Given the description of an element on the screen output the (x, y) to click on. 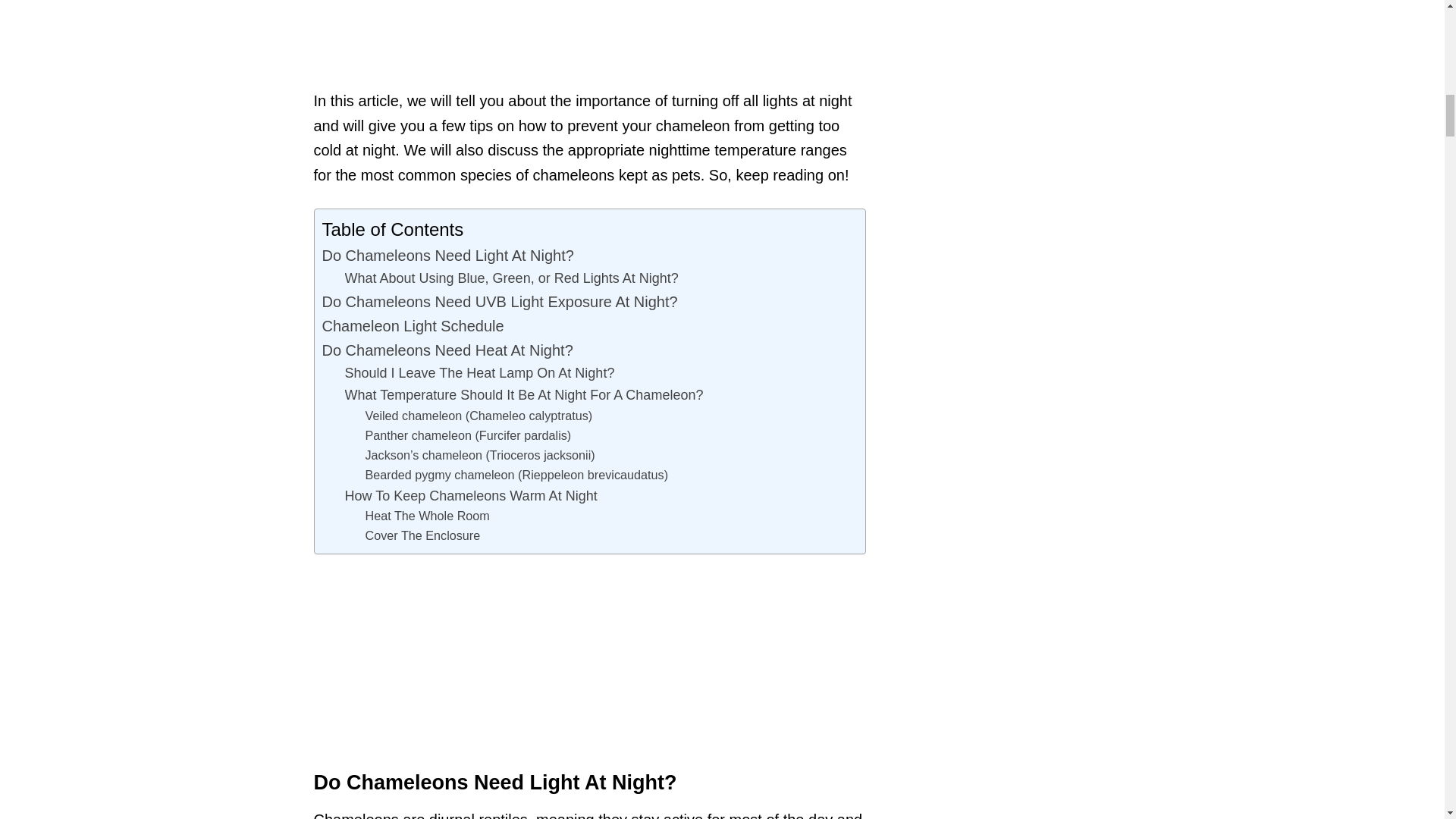
What Temperature Should It Be At Night For A Chameleon? (523, 395)
Do Chameleons Need Heat At Night? (446, 350)
Do Chameleons Need UVB Light Exposure At Night? (499, 301)
Do Chameleons Need Light At Night? (447, 255)
Should I Leave The Heat Lamp On At Night? (478, 373)
What About Using Blue, Green, or Red Lights At Night? (510, 278)
Chameleon Light Schedule (412, 325)
